Given the description of an element on the screen output the (x, y) to click on. 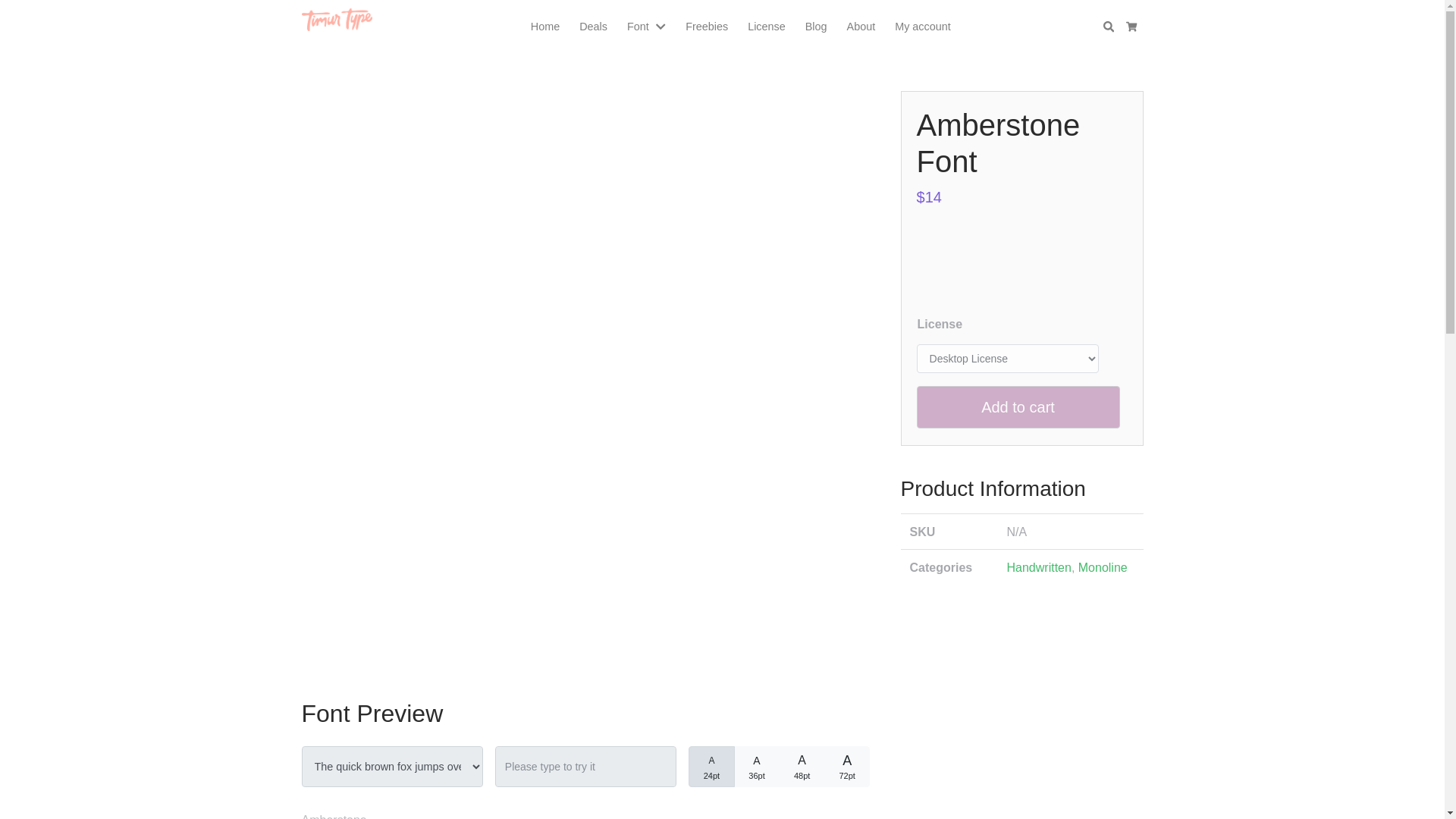
Blog (815, 27)
64 (807, 756)
32 (715, 756)
Deals (592, 27)
Font (638, 27)
Freebies (706, 27)
Handwritten (1039, 567)
License (766, 27)
Home (545, 27)
48 (762, 756)
About (861, 27)
Add to cart (1018, 406)
96 (852, 756)
Monoline (1102, 567)
My account (922, 27)
